Given the description of an element on the screen output the (x, y) to click on. 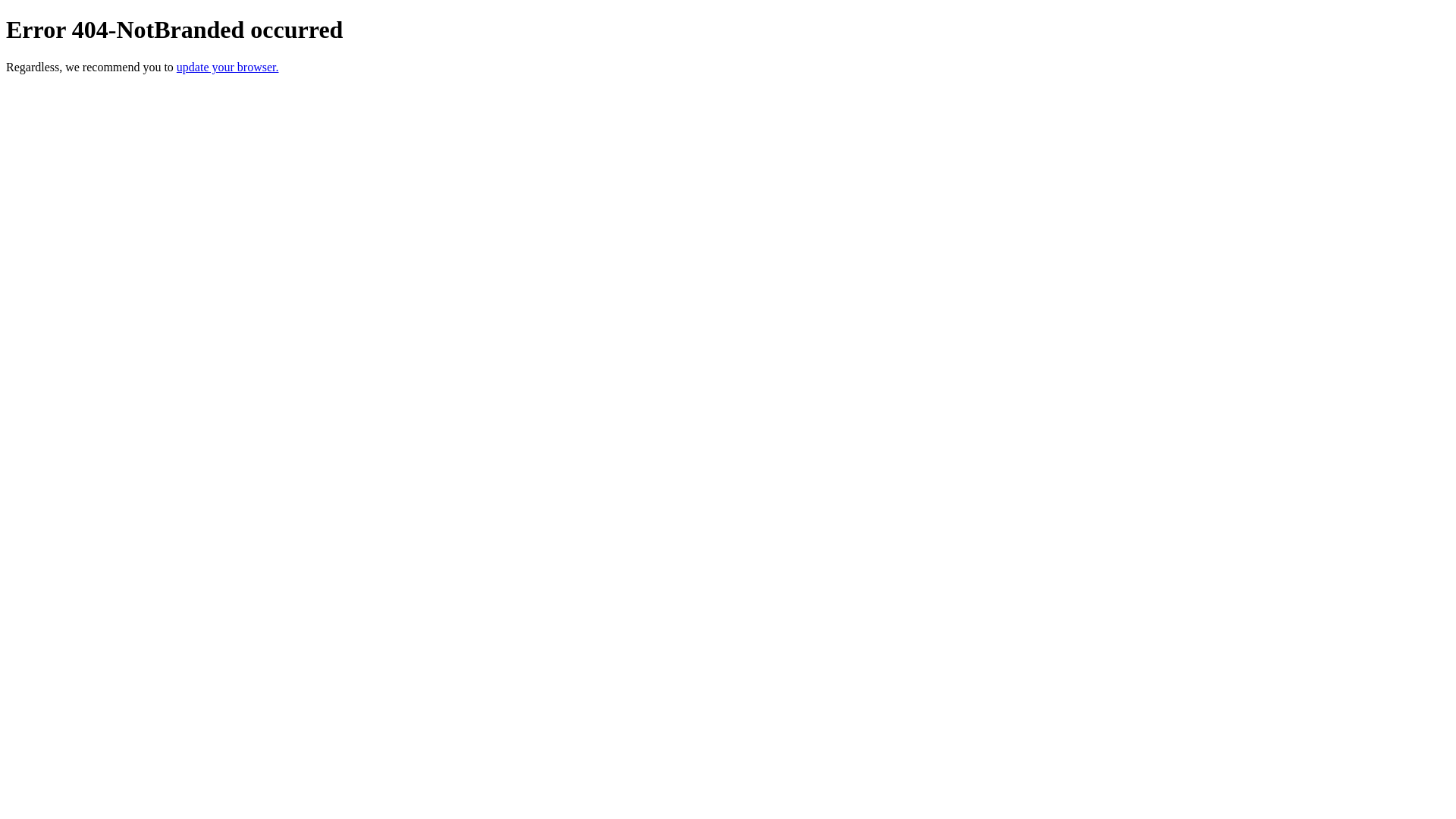
update your browser. Element type: text (227, 66)
